Given the description of an element on the screen output the (x, y) to click on. 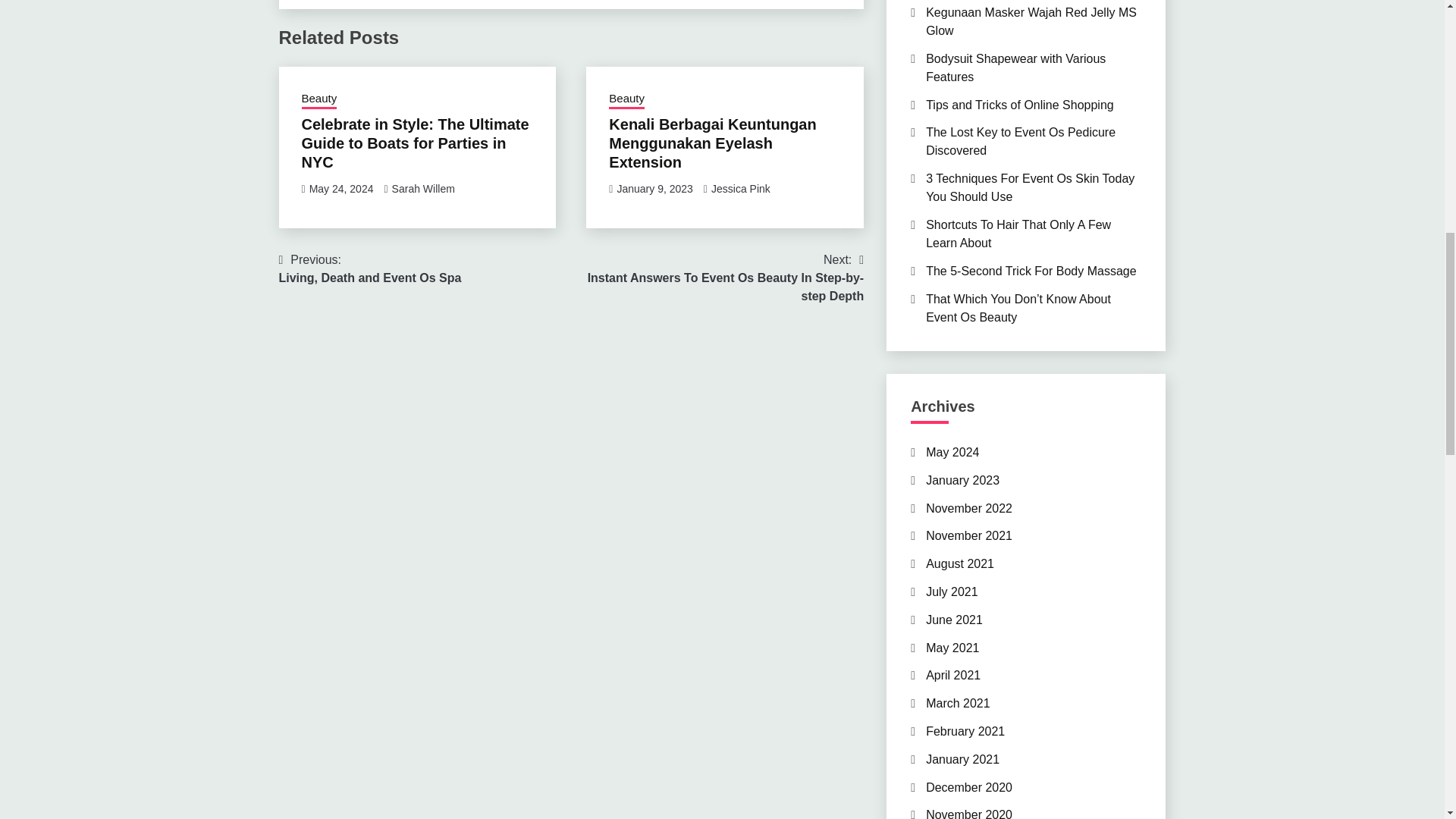
January 9, 2023 (654, 188)
Bodysuit Shapewear with Various Features (370, 268)
Kegunaan Masker Wajah Red Jelly MS Glow (1015, 67)
Jessica Pink (1031, 20)
Kenali Berbagai Keuntungan Menggunakan Eyelash Extension (740, 188)
The Lost Key to Event Os Pedicure Discovered (711, 143)
Beauty (1020, 141)
May 24, 2024 (319, 99)
Beauty (341, 188)
3 Techniques For Event Os Skin Today You Should Use (626, 99)
Tips and Tricks of Online Shopping (1030, 187)
Sarah Willem (1019, 104)
